Given the description of an element on the screen output the (x, y) to click on. 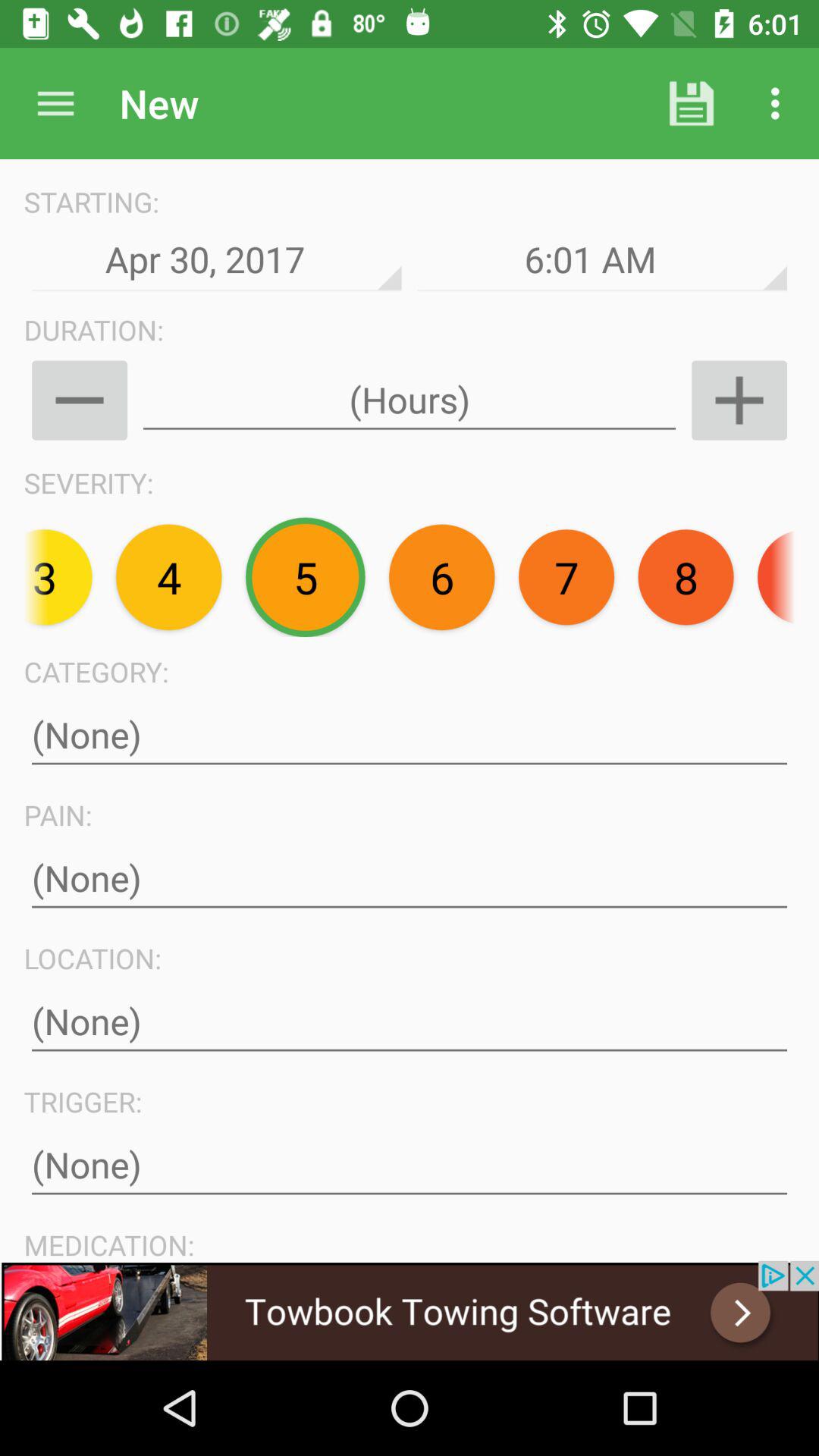
advertisement (409, 1310)
